Given the description of an element on the screen output the (x, y) to click on. 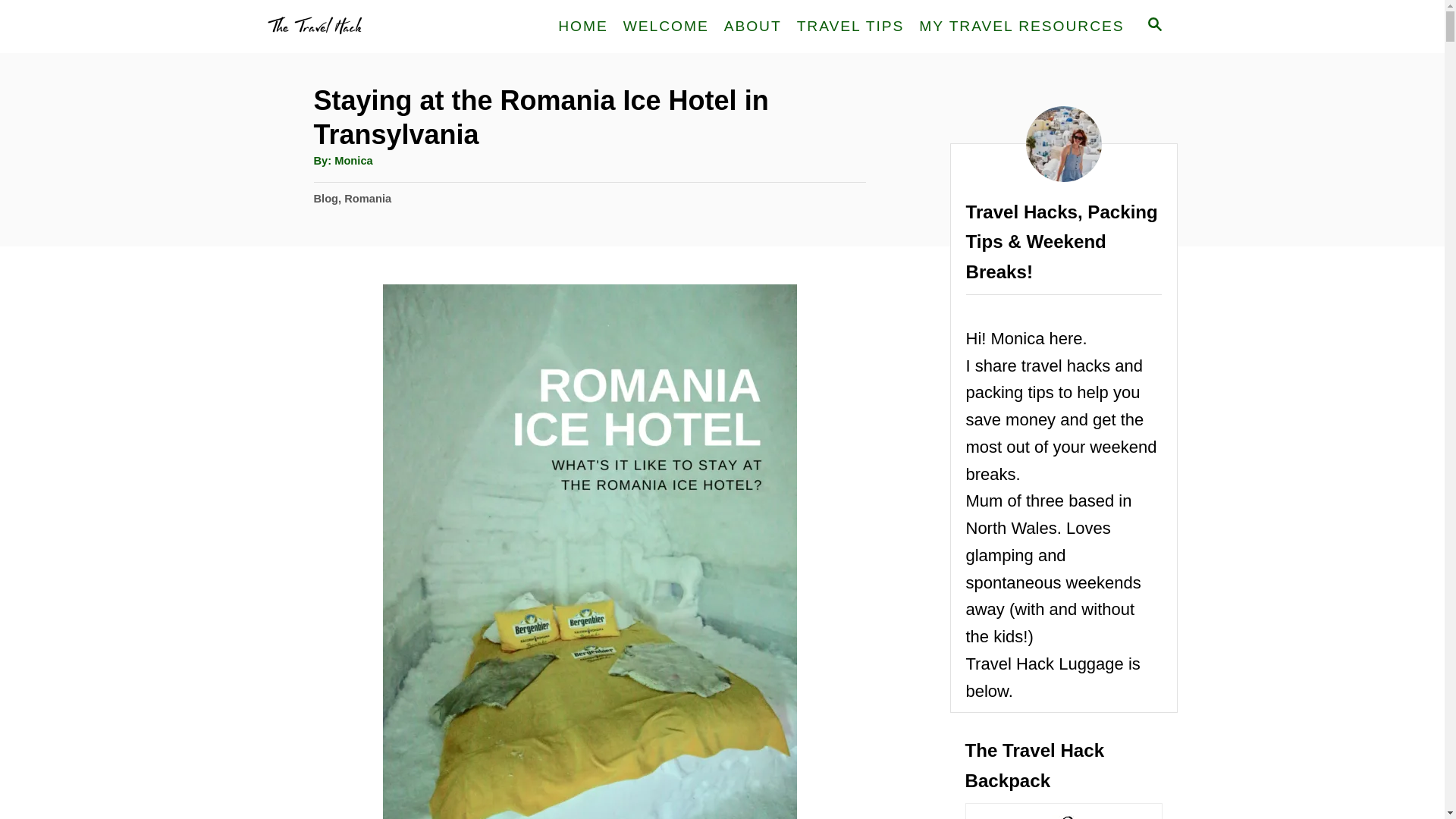
Romania (367, 198)
ABOUT (752, 26)
TRAVEL TIPS (850, 26)
SEARCH (1153, 26)
The Travel Hack (394, 26)
MY TRAVEL RESOURCES (1021, 26)
WELCOME (665, 26)
Monica (353, 160)
HOME (582, 26)
Blog (326, 198)
